Given the description of an element on the screen output the (x, y) to click on. 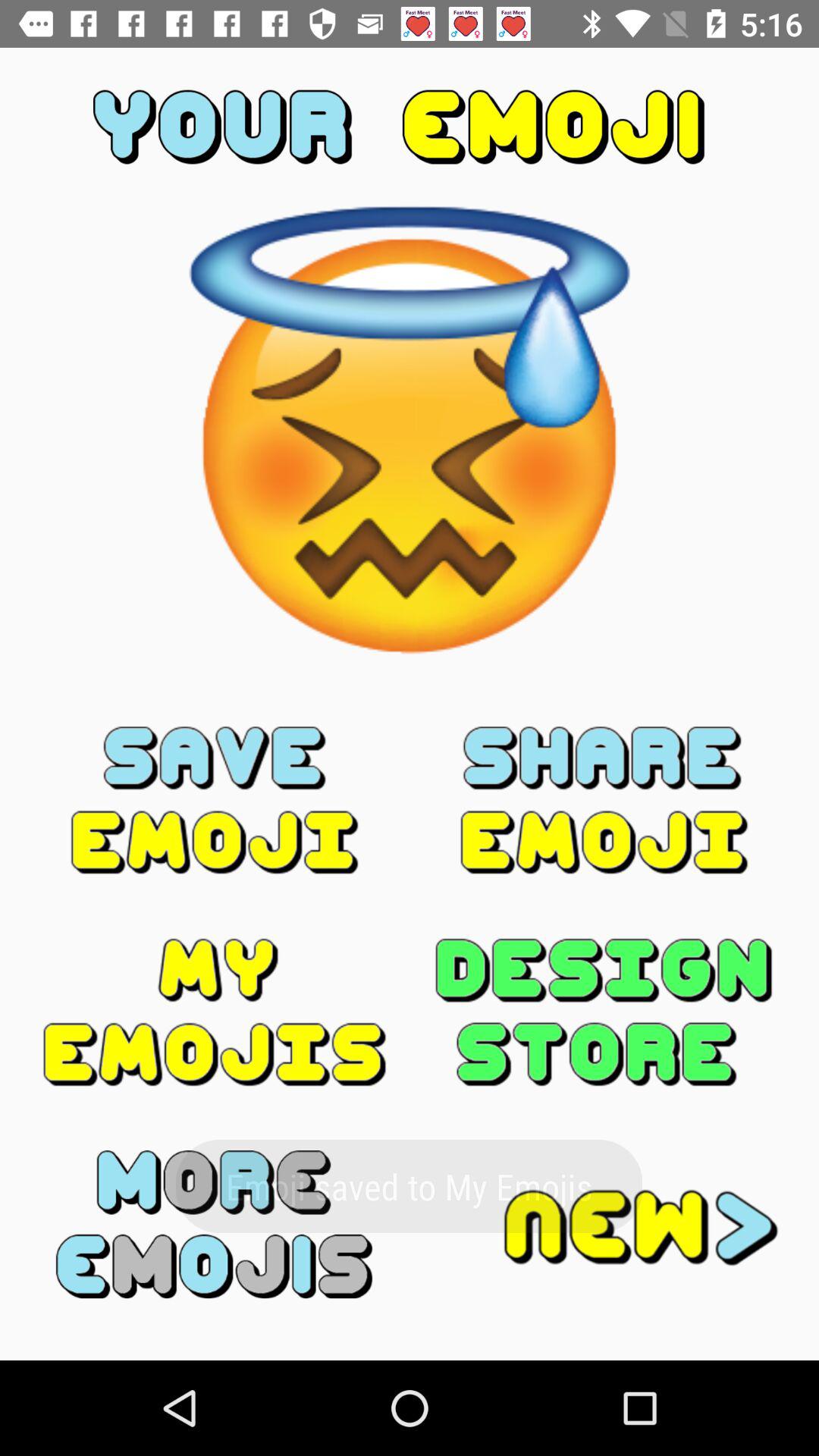
shows all your emojis (214, 1012)
